Given the description of an element on the screen output the (x, y) to click on. 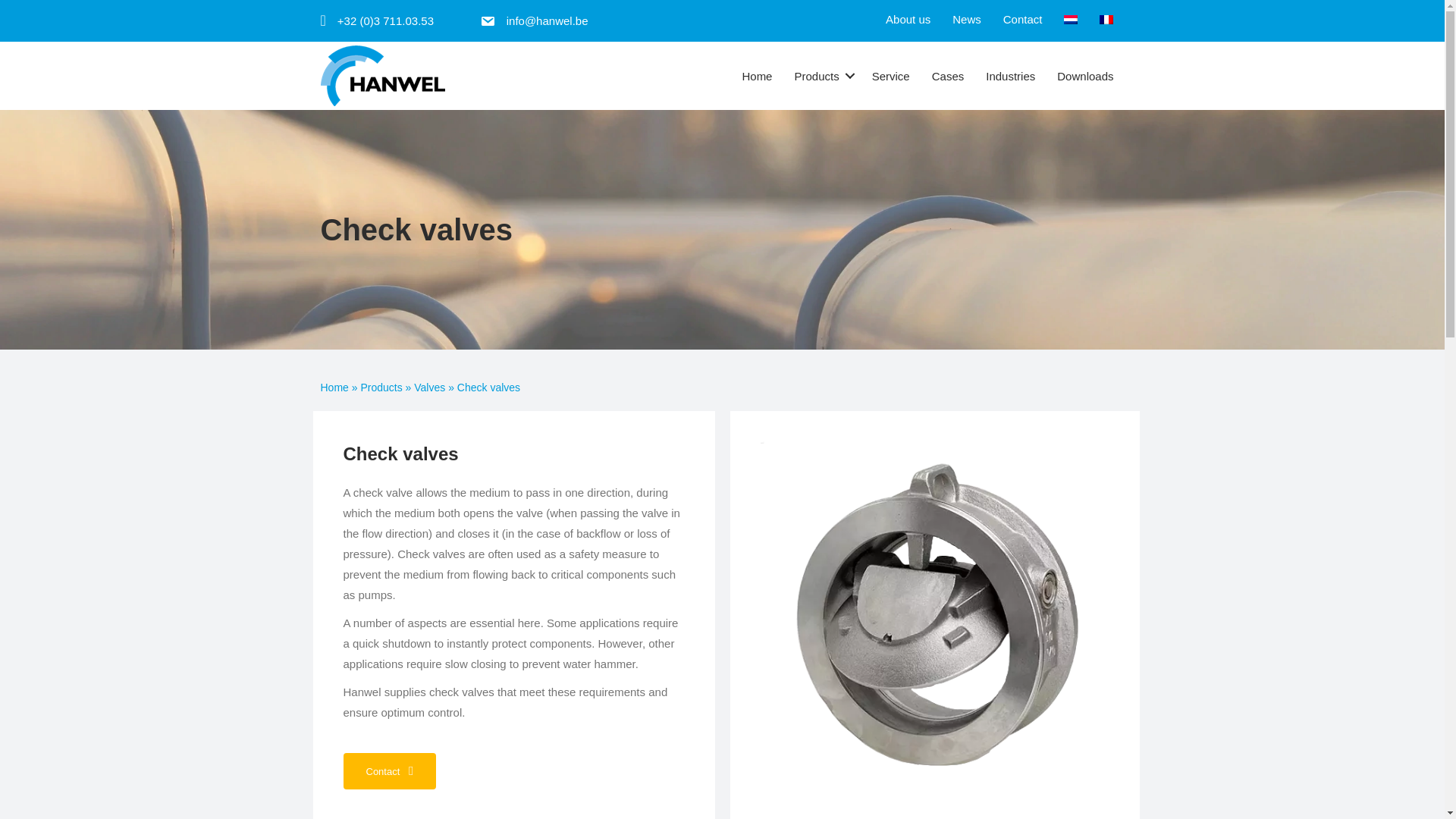
Contact (1022, 19)
Tilting-disc-terugslagkleppen-1 (934, 615)
Products (821, 75)
Logo (382, 75)
About us (907, 19)
Home (756, 75)
News (966, 19)
